Given the description of an element on the screen output the (x, y) to click on. 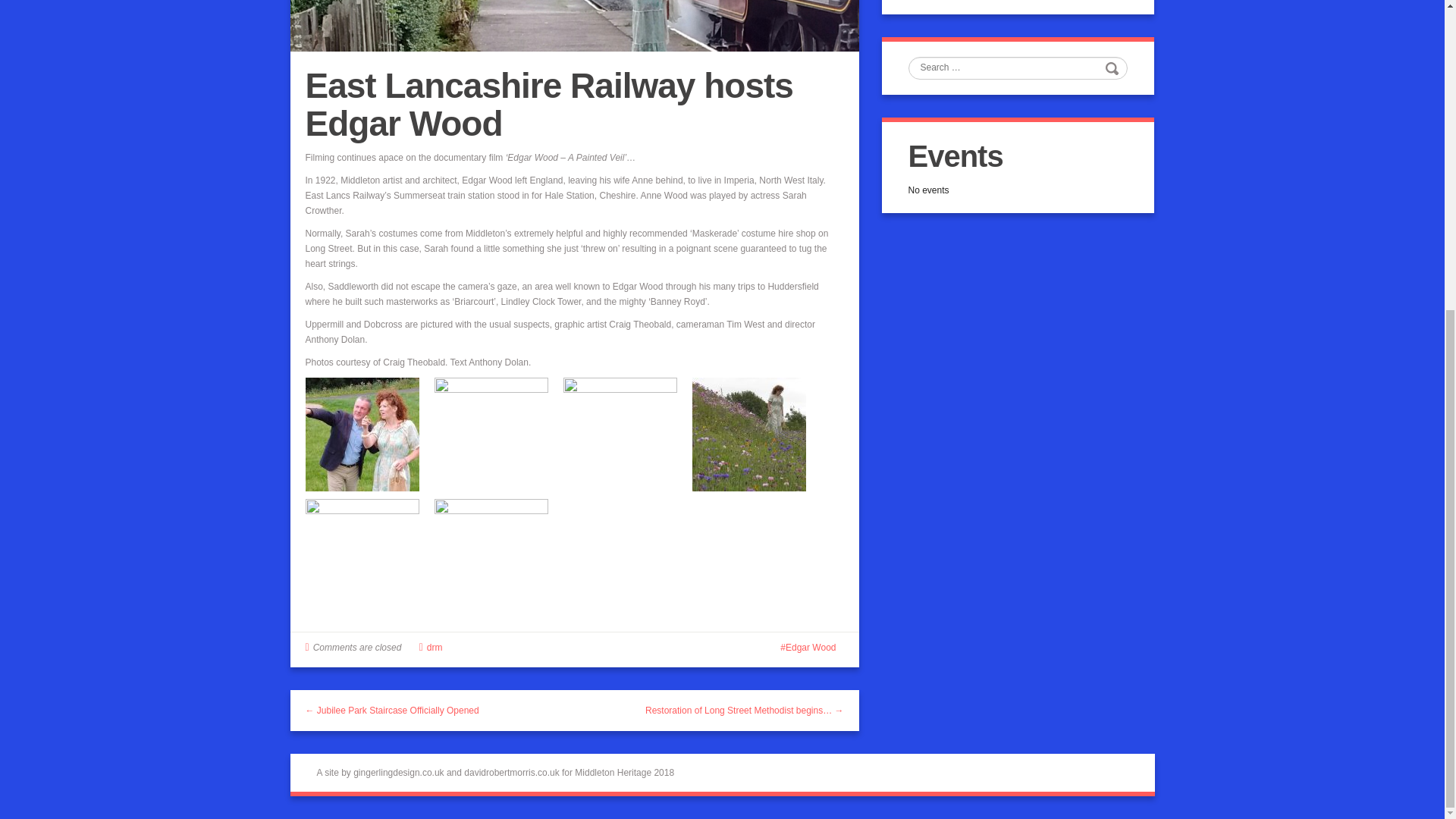
Edgar Wood (807, 647)
drm (434, 647)
Search (1113, 67)
Posts by drm (434, 647)
Search (1113, 67)
